Given the description of an element on the screen output the (x, y) to click on. 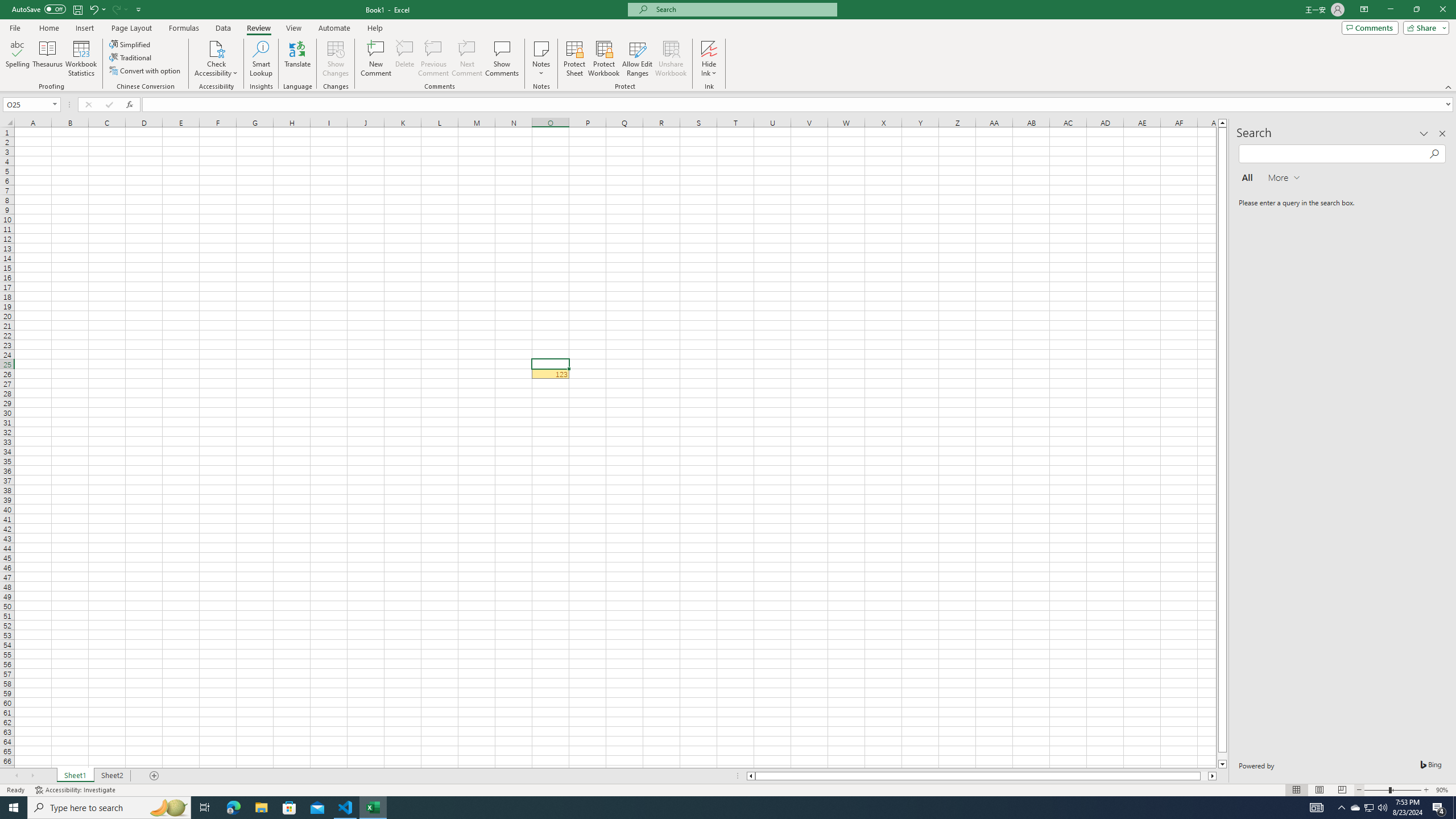
Thesaurus... (47, 58)
Allow Edit Ranges (637, 58)
Delete (404, 58)
